Given the description of an element on the screen output the (x, y) to click on. 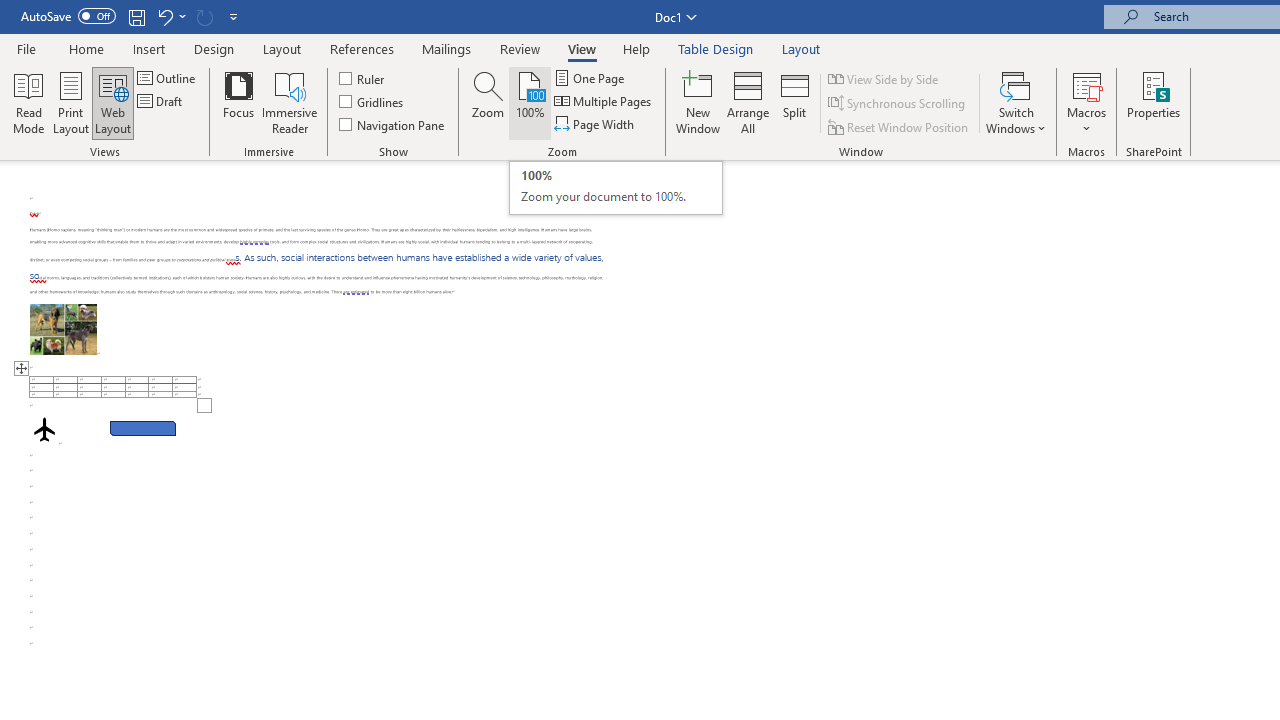
Reset Window Position (900, 126)
Outline (168, 78)
Arrange All (747, 102)
